Given the description of an element on the screen output the (x, y) to click on. 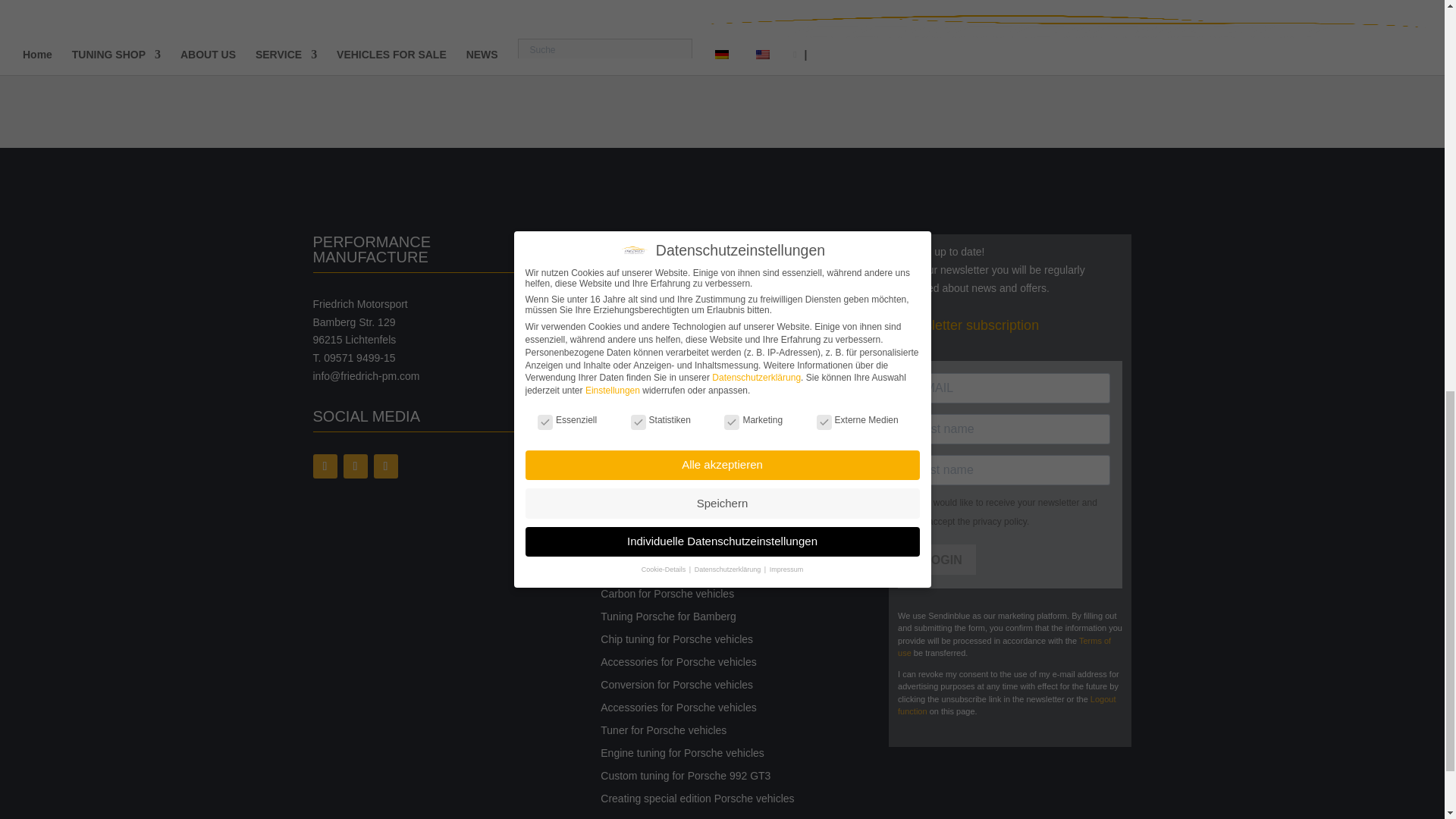
Cayenne Turbo GT - NEW (377, 22)
Follow on Facebook (324, 466)
Follow on Instagram (354, 466)
Follow on Youtube (384, 466)
